Given the description of an element on the screen output the (x, y) to click on. 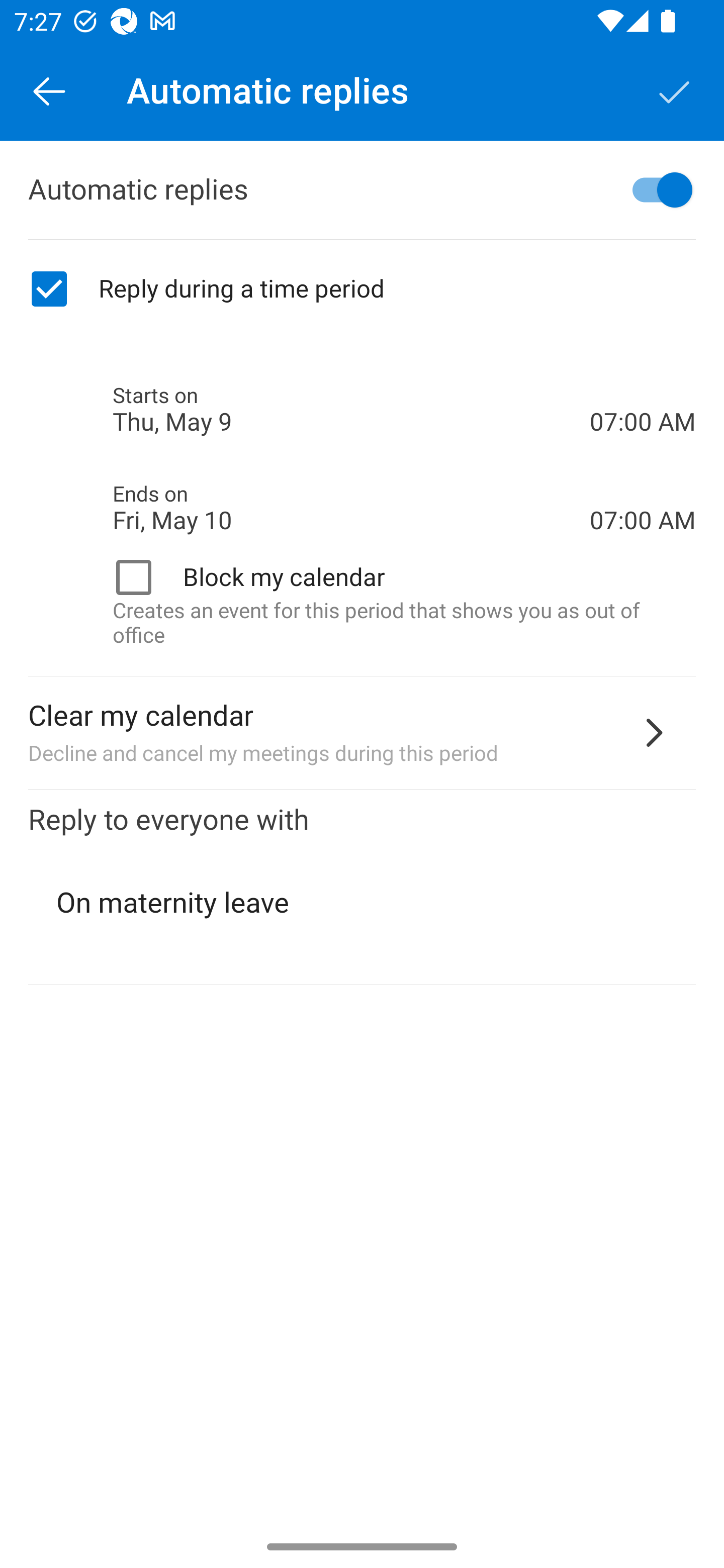
Back (49, 90)
Save (674, 90)
Automatic replies (362, 190)
Reply during a time period (362, 288)
07:00 AM (642, 387)
Starts on Thu, May 9 (351, 409)
07:00 AM (642, 485)
Ends on Fri, May 10 (351, 507)
Reply to everyone with Edit box On maternity leave (361, 887)
On maternity leave (363, 902)
